Given the description of an element on the screen output the (x, y) to click on. 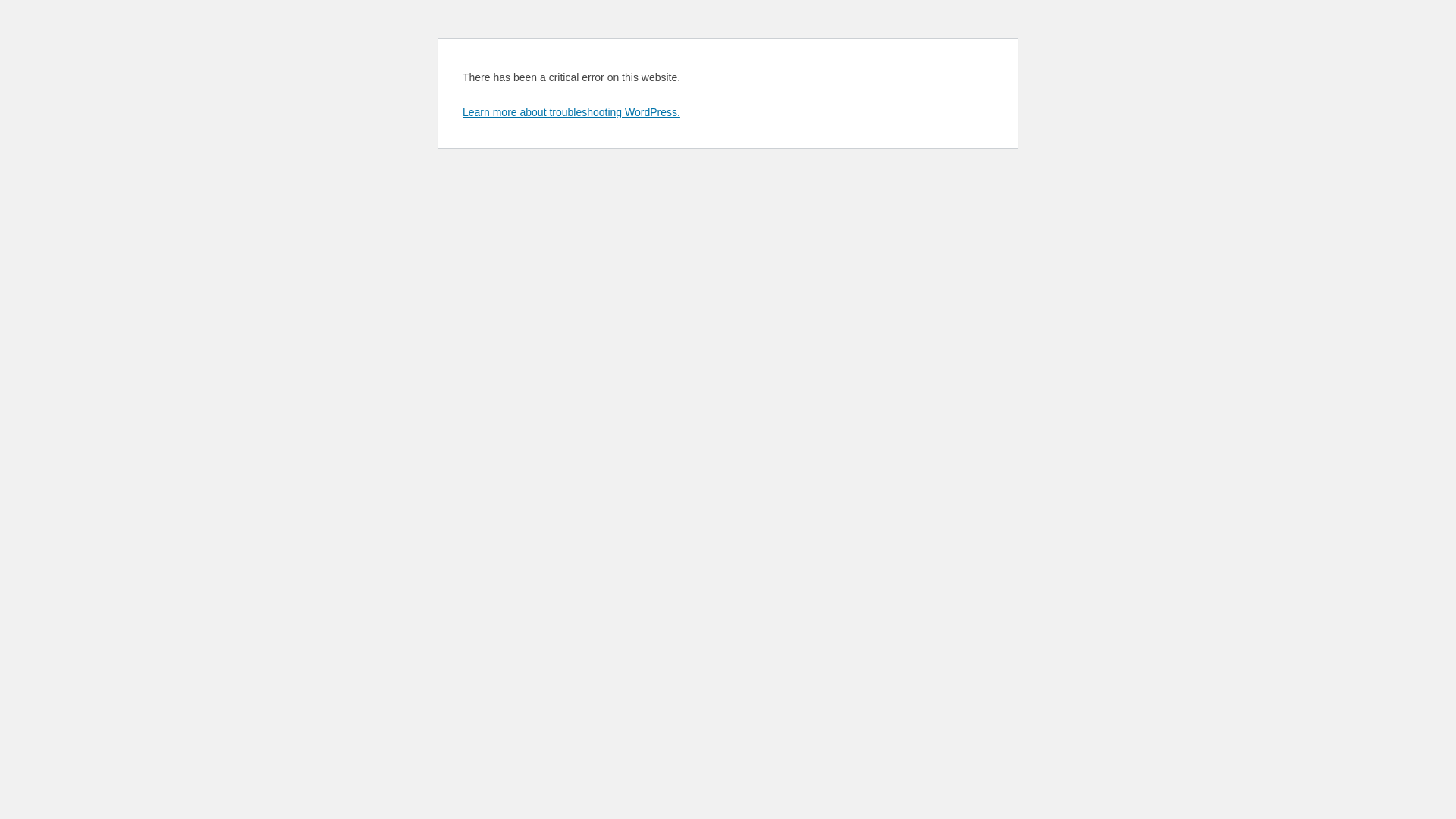
Learn more about troubleshooting WordPress. Element type: text (571, 112)
